Given the description of an element on the screen output the (x, y) to click on. 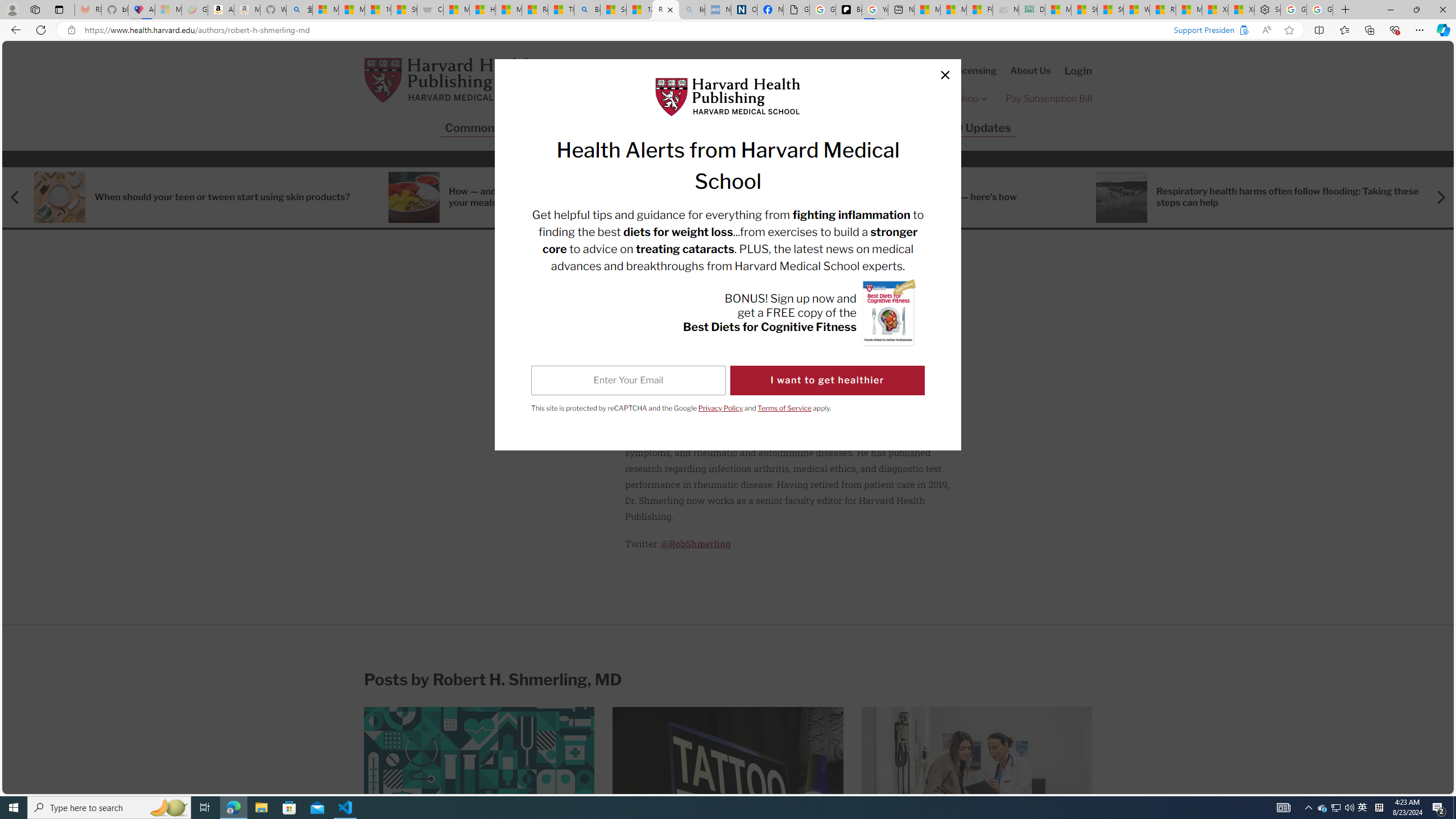
FOX News - MSN (979, 9)
Enter Your Email (628, 380)
Harvard Health Publishing Harvard Health Publishing Logo (449, 79)
Content Licensing (956, 70)
